Given the description of an element on the screen output the (x, y) to click on. 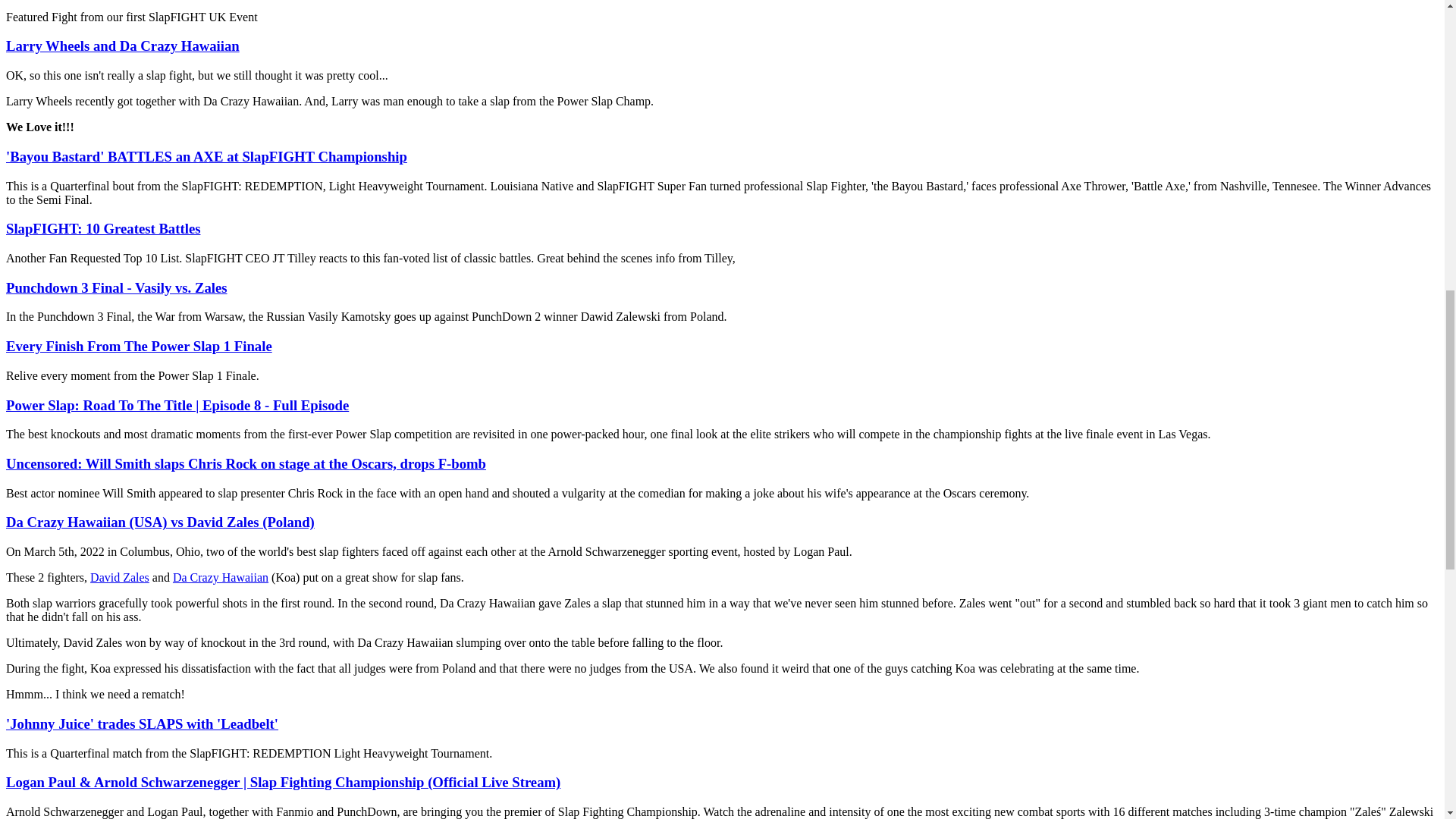
'Bayou Bastard' BATTLES an AXE at SlapFIGHT Championship (206, 156)
Larry Wheels and Da Crazy Hawaiian (122, 45)
SlapFIGHT: 10 Greatest Battles (102, 228)
Punchdown 3 Final - Vasily vs. Zales (116, 287)
